Given the description of an element on the screen output the (x, y) to click on. 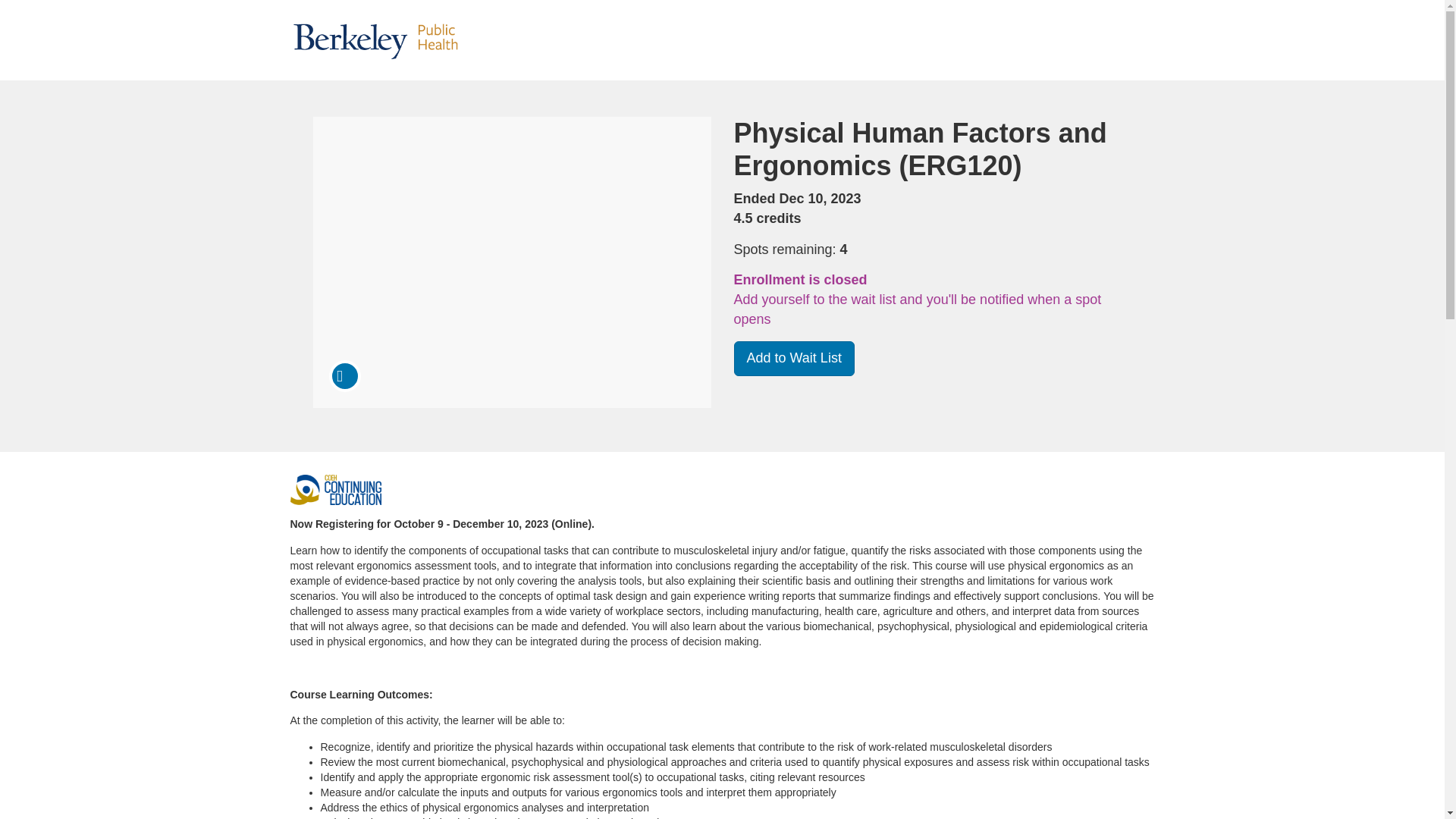
Add to Wait List (793, 358)
Course (345, 376)
Continuing Education (334, 490)
